Given the description of an element on the screen output the (x, y) to click on. 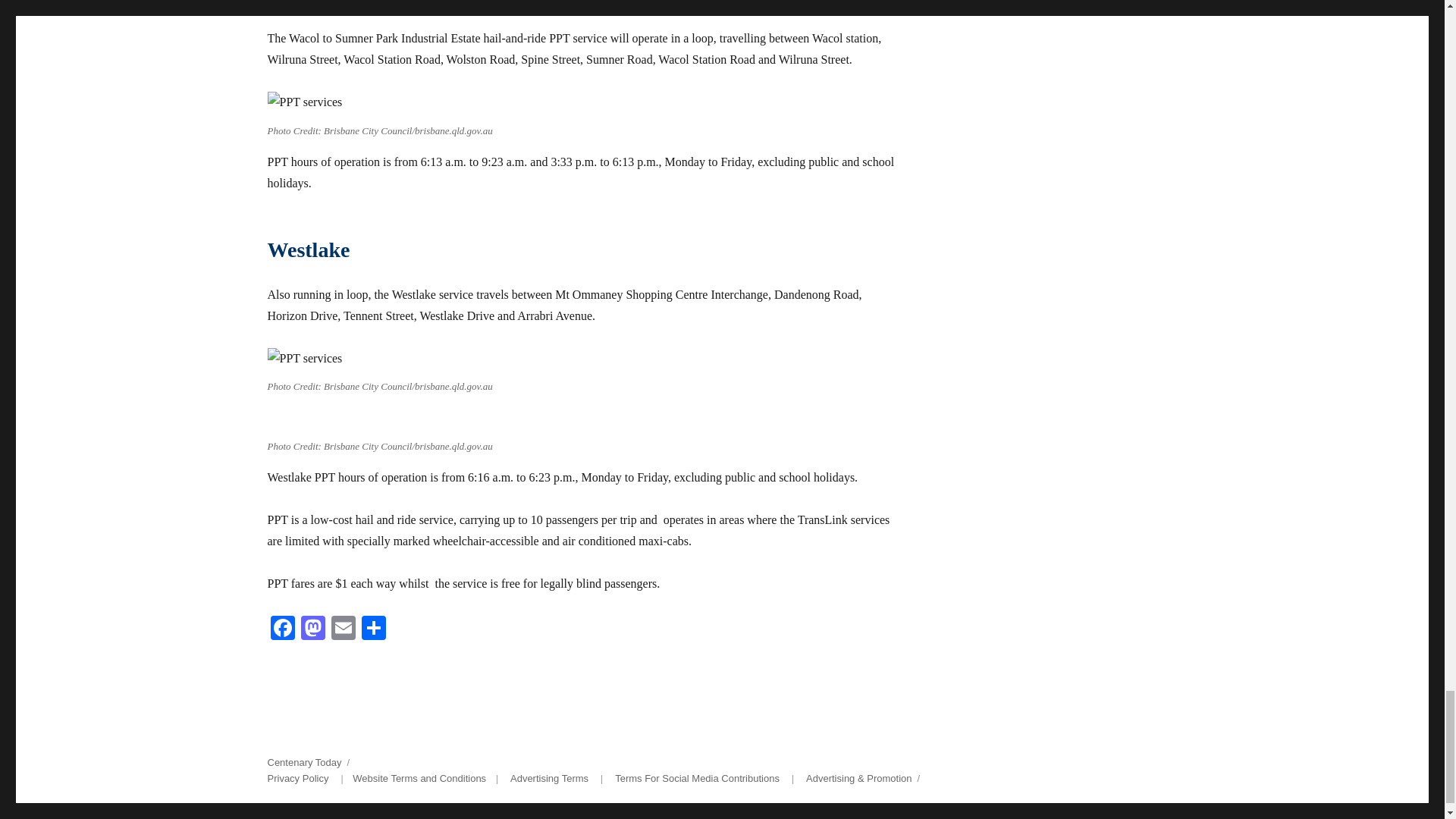
Email (342, 629)
Email (342, 629)
Mastodon (312, 629)
Facebook (281, 629)
Share (373, 629)
Mastodon (312, 629)
Facebook (281, 629)
